Given the description of an element on the screen output the (x, y) to click on. 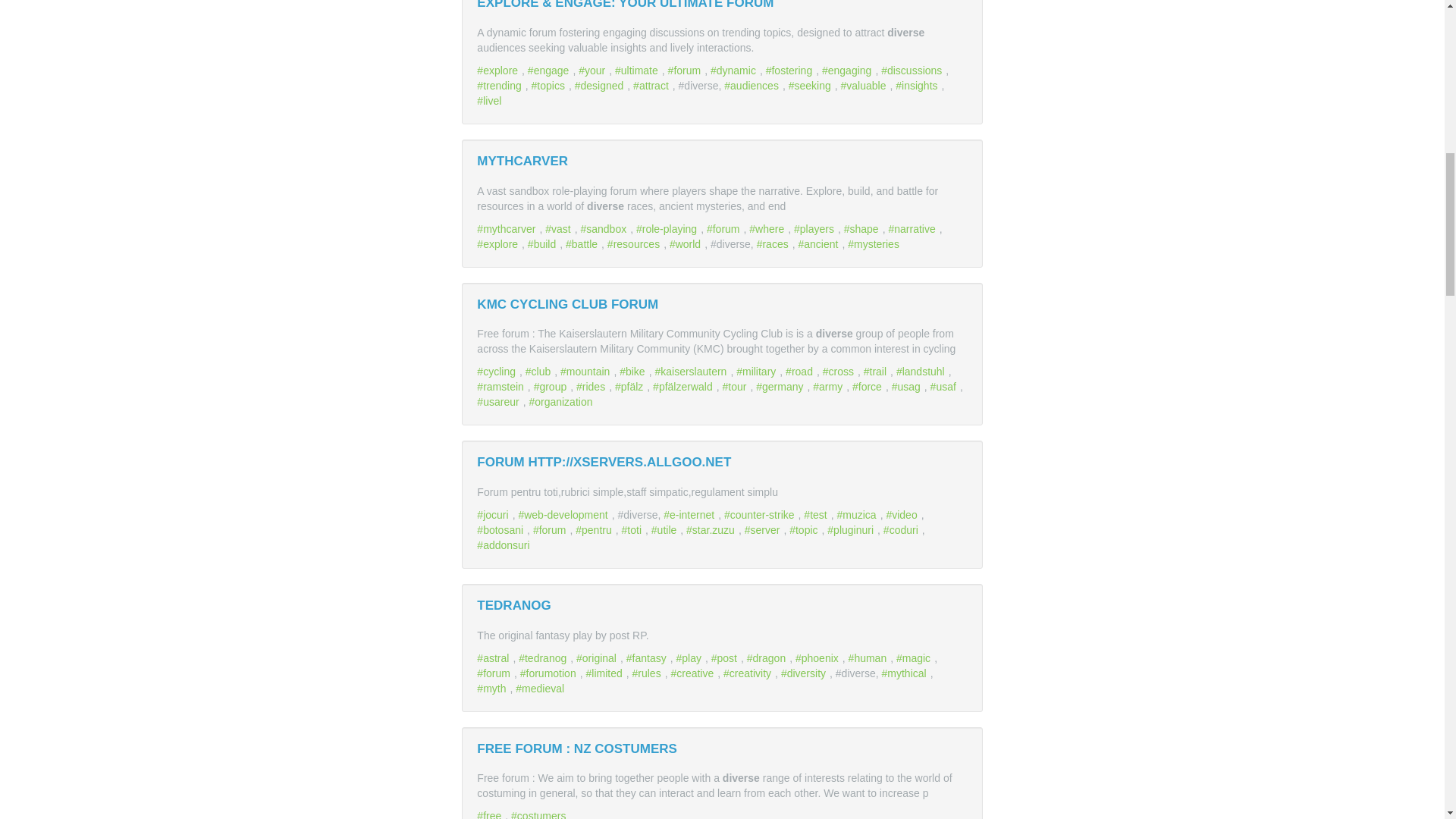
trending (500, 85)
designed (601, 85)
attract (652, 85)
your (593, 70)
fostering (790, 70)
explore (499, 70)
engaging (848, 70)
forum (686, 70)
ultimate (638, 70)
explore (499, 70)
MYTHCARVER (522, 160)
audiences (753, 85)
dynamic (735, 70)
topics (550, 85)
insights (917, 85)
